Given the description of an element on the screen output the (x, y) to click on. 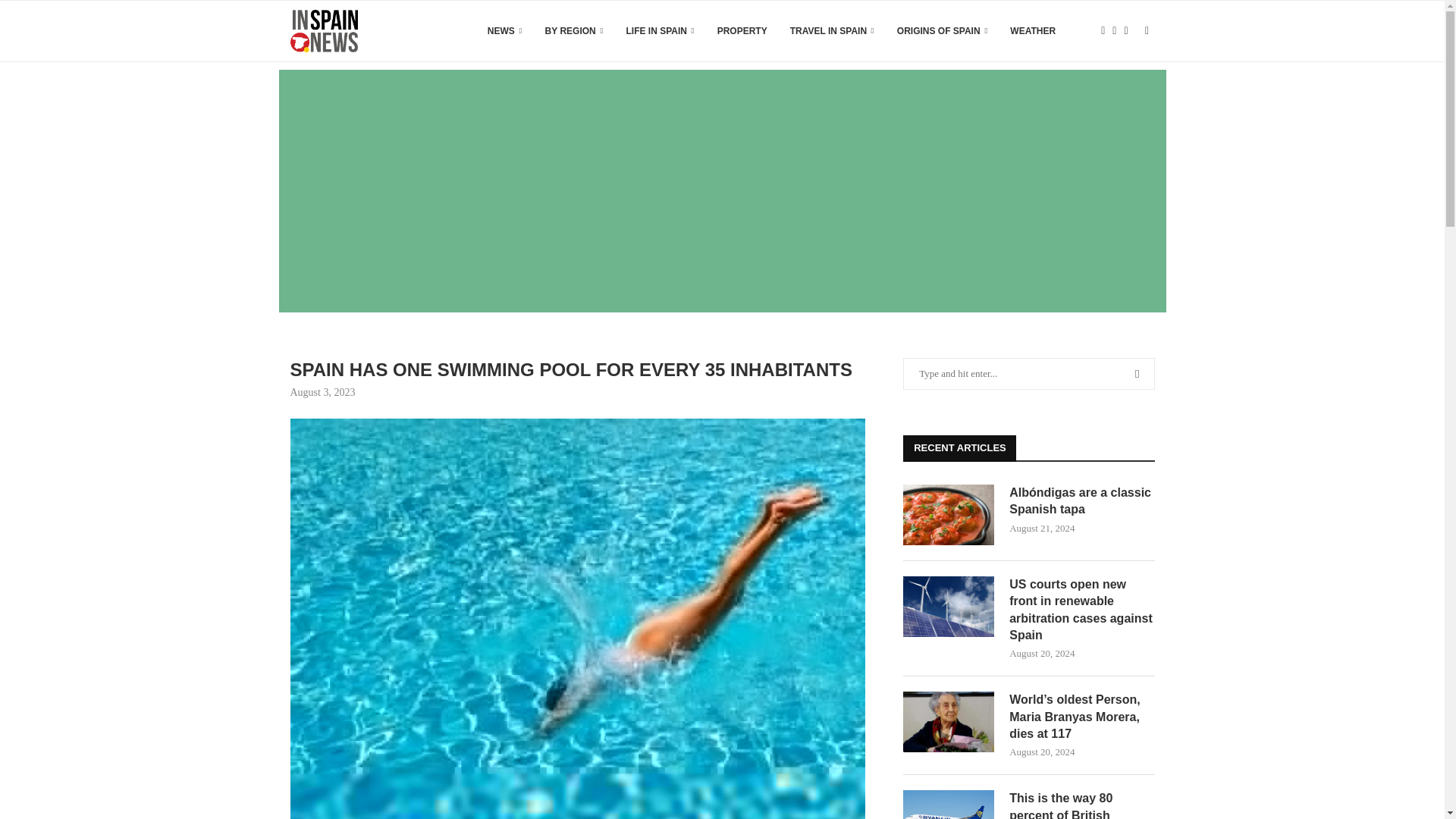
TRAVEL IN SPAIN (832, 30)
ORIGINS OF SPAIN (942, 30)
BY REGION (574, 30)
LIFE IN SPAIN (660, 30)
